Given the description of an element on the screen output the (x, y) to click on. 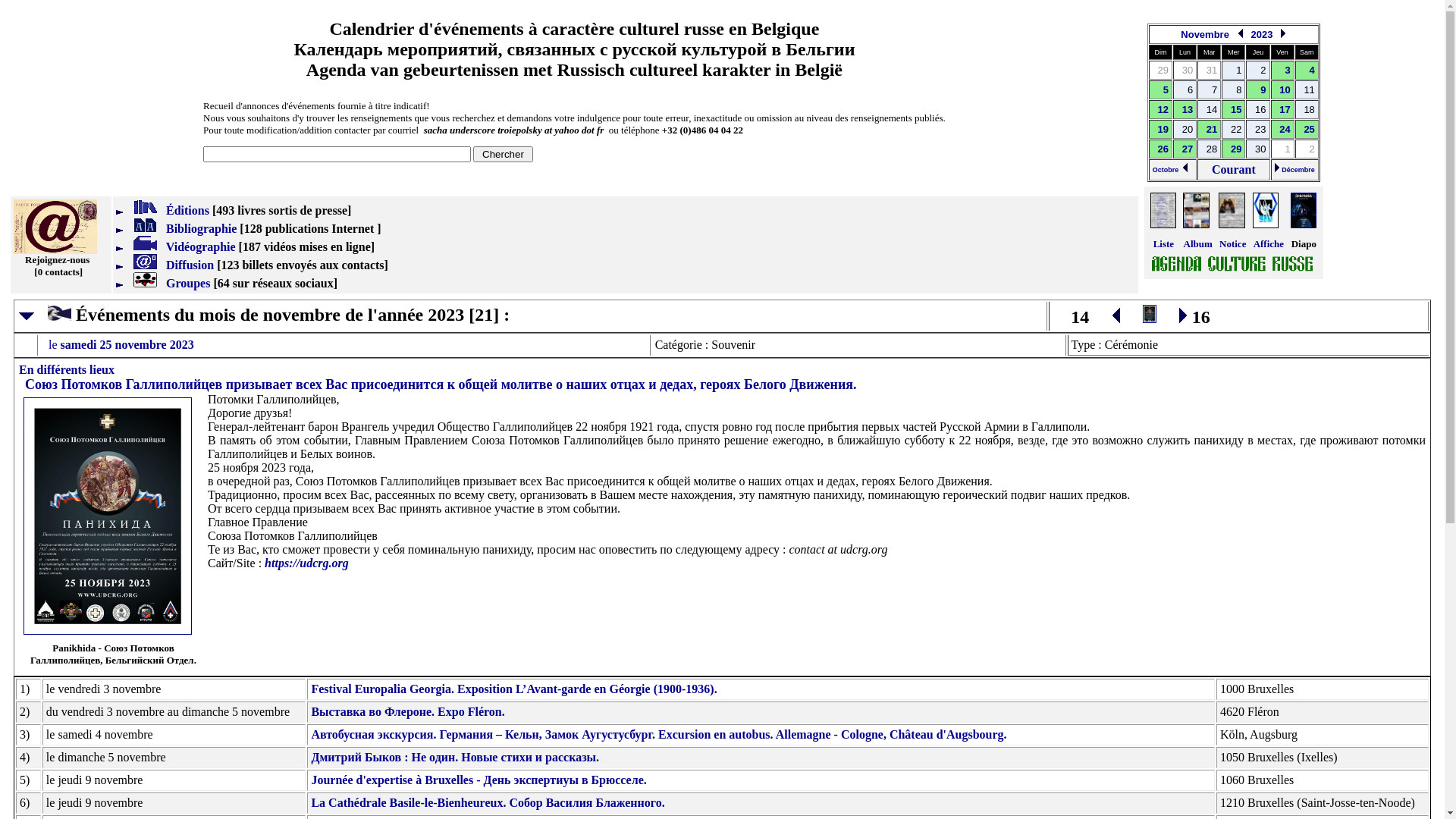
26 Element type: text (1162, 148)
10 Element type: text (1284, 89)
Carte postale inscrivez-nous Element type: hover (55, 226)
      Bibliographie Element type: text (176, 228)
13 Element type: text (1187, 109)
27 Element type: text (1187, 148)
Diaporama des nouvelles affiches/illustrations  Element type: hover (1268, 228)
Album Element type: text (1197, 243)
   Element type: text (44, 314)
Novembre   Element type: text (1207, 34)
15 Element type: text (1235, 109)
24 Element type: text (1284, 128)
Courant Element type: text (1233, 169)
https://udcrg.org Element type: text (306, 562)
Disposition album d'affiches et/ou d'illustrations Element type: hover (1196, 210)
5 Element type: text (1165, 89)
9 Element type: text (1262, 89)
12 Element type: text (1162, 109)
Octobre  Element type: text (1170, 169)
4 Element type: text (1311, 69)
21 Element type: text (1211, 128)
      Groupes Element type: text (163, 282)
 Chercher  Element type: text (502, 154)
Notice Element type: text (1232, 243)
Affiche Element type: text (1268, 243)
      Diffusion Element type: text (164, 264)
Liste Element type: text (1163, 243)
25 Element type: text (1308, 128)
17 Element type: text (1284, 109)
3 Element type: text (1286, 69)
  2023   Element type: text (1261, 34)
Nouvelle version | Nouvelles affiches Element type: hover (1233, 264)
29 Element type: text (1235, 148)
19 Element type: text (1162, 128)
